Given the description of an element on the screen output the (x, y) to click on. 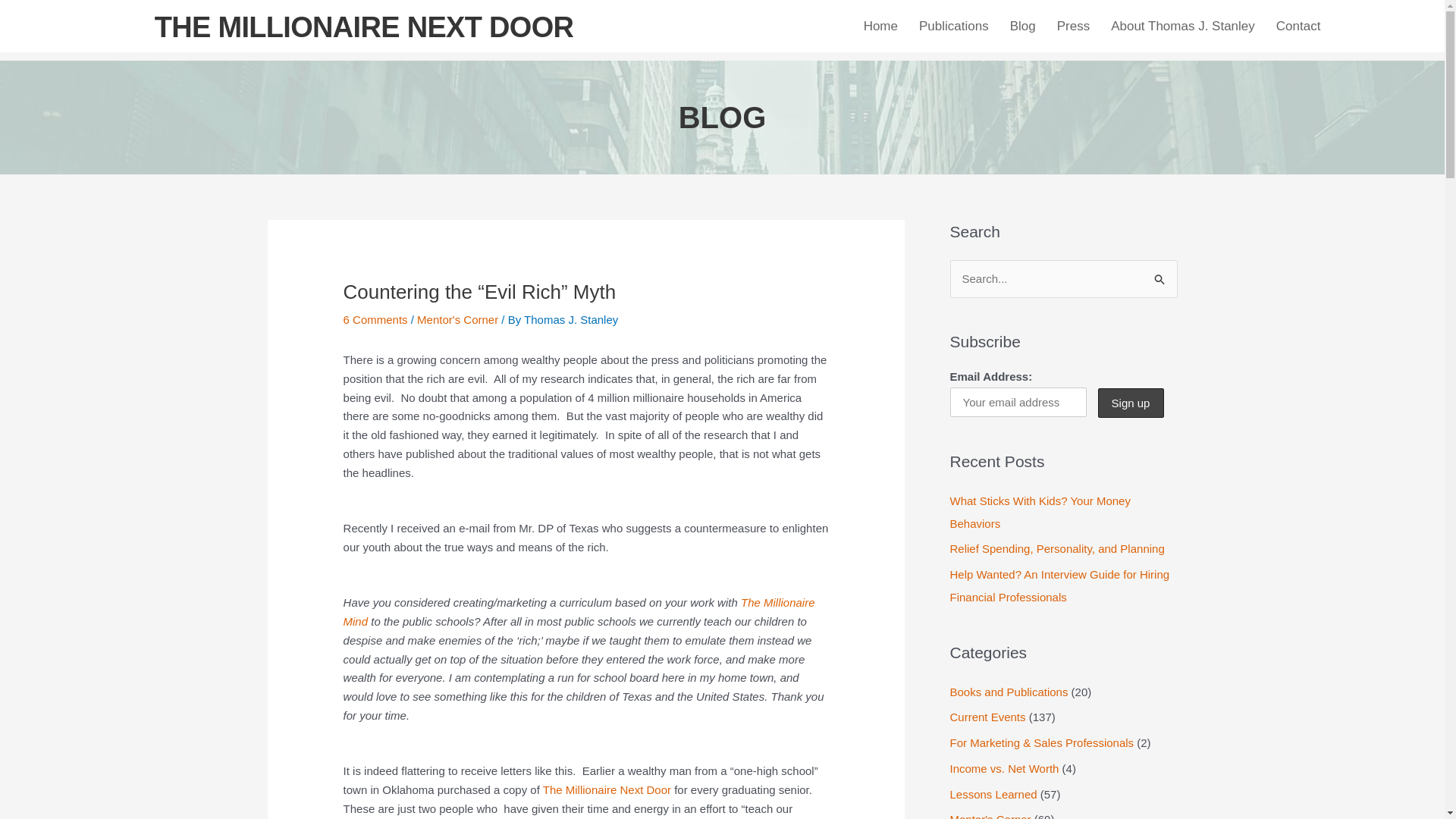
THE MILLIONAIRE NEXT DOOR (363, 27)
Sign up (1130, 402)
Current Events (987, 716)
Search (1159, 274)
Thomas J. Stanley (570, 318)
Mentor's Corner (456, 318)
Blog (1022, 26)
About Thomas J. Stanley (1182, 26)
6 Comments (375, 318)
Press (1073, 26)
